Given the description of an element on the screen output the (x, y) to click on. 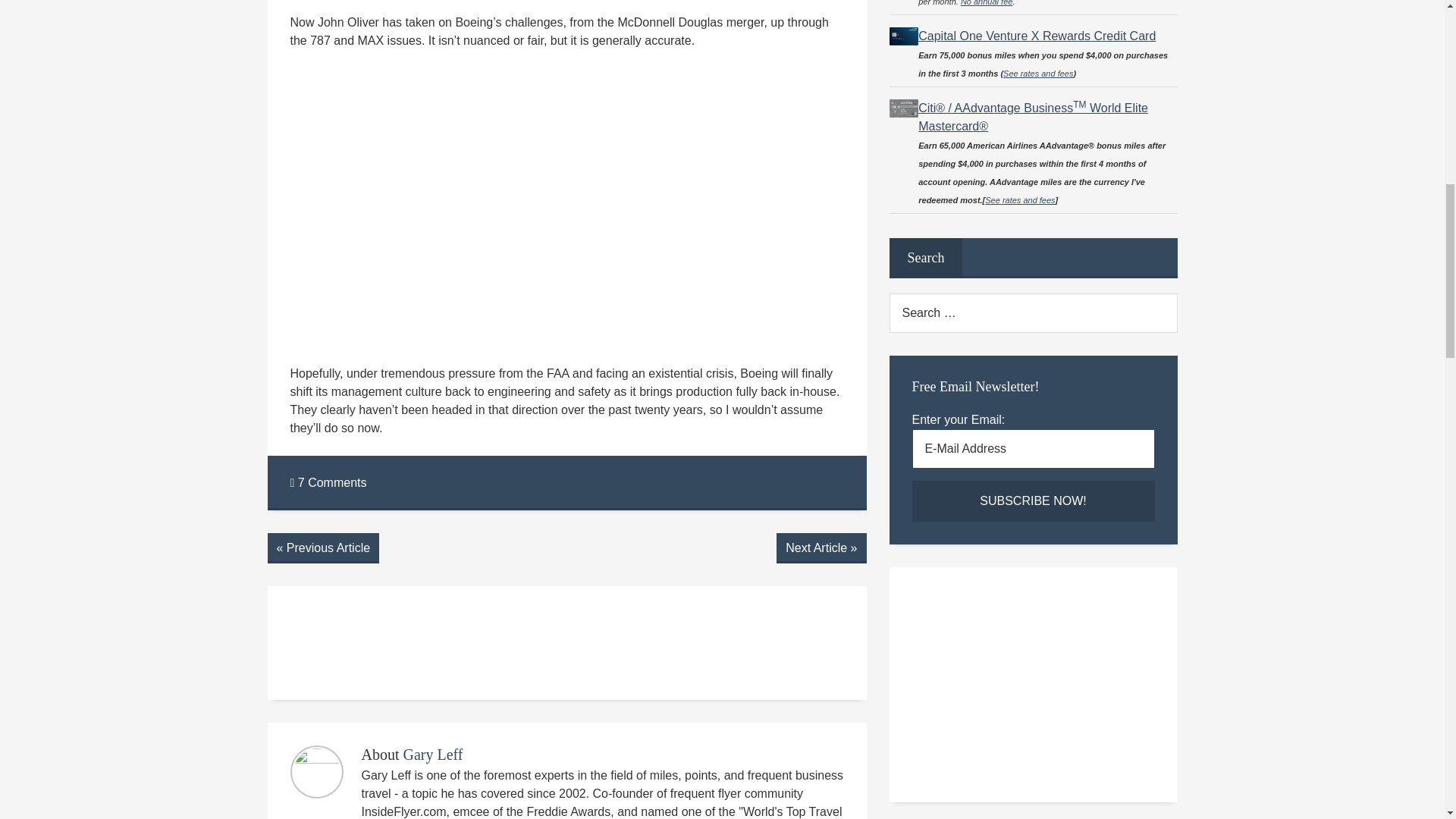
Subscribe Now! (1032, 500)
7 Comments (327, 481)
E-Mail Address (1032, 448)
Gary Leff (433, 754)
